Given the description of an element on the screen output the (x, y) to click on. 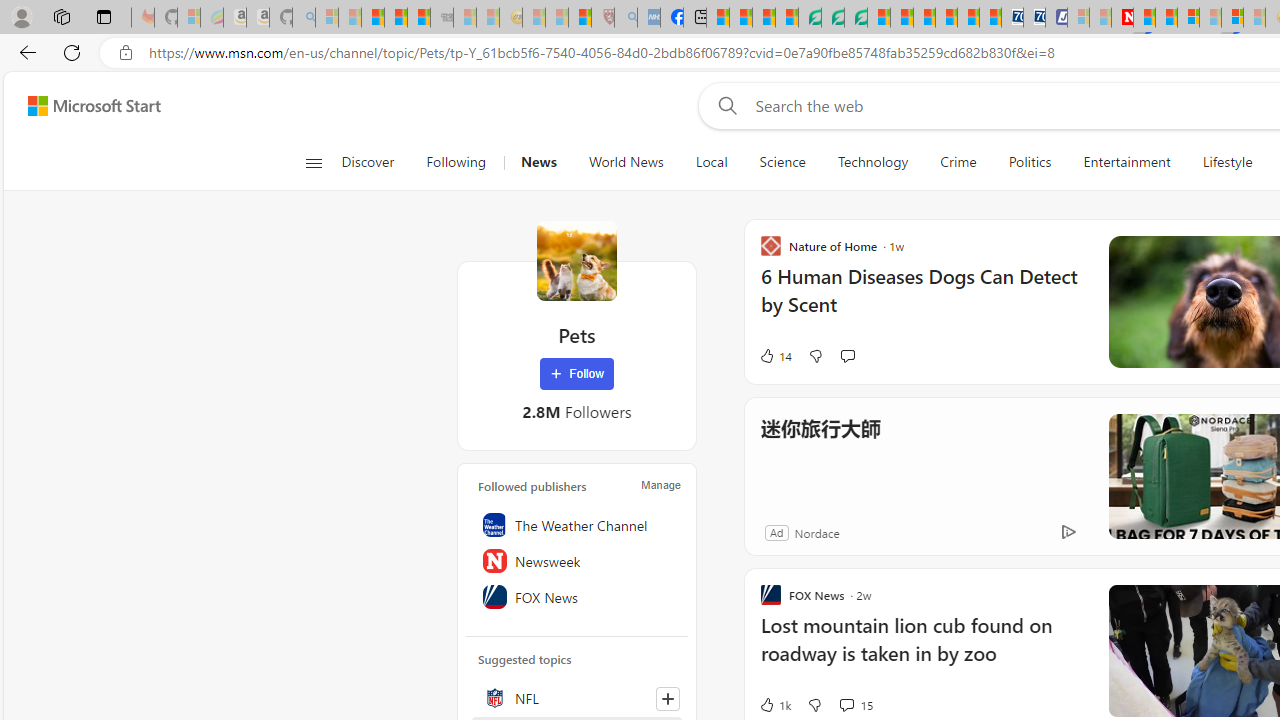
Personal Profile (21, 16)
Discover (367, 162)
Recipes - MSN - Sleeping (534, 17)
View comments 15 Comment (846, 704)
Local (710, 162)
Nordace (816, 532)
Lifestyle (1227, 162)
Open navigation menu (313, 162)
Latest Politics News & Archive | Newsweek.com (1122, 17)
